Given the description of an element on the screen output the (x, y) to click on. 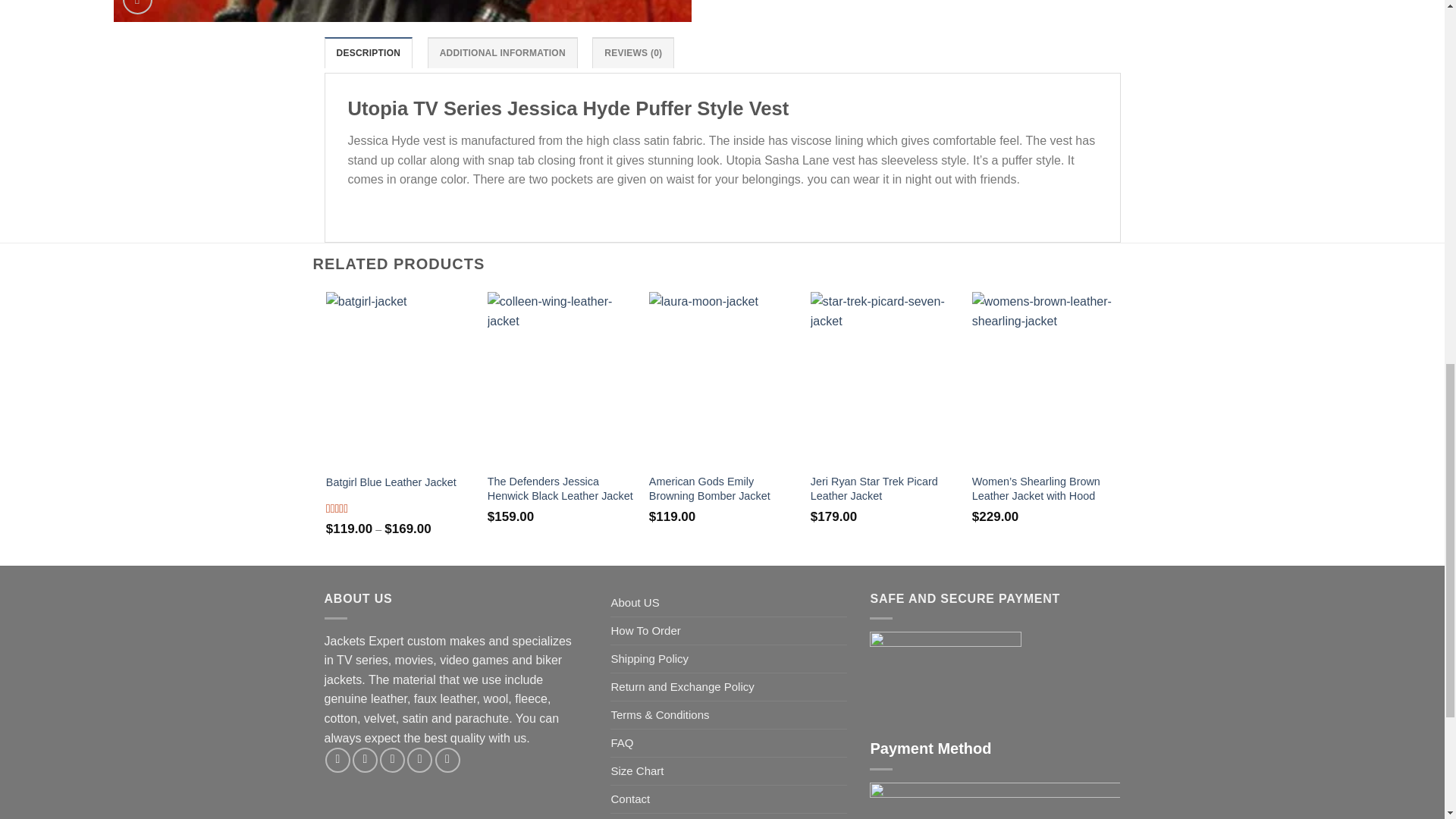
jessica-hyde-vest (402, 11)
utopia-sasha-lane-vest (980, 11)
Zoom (137, 7)
